Given the description of an element on the screen output the (x, y) to click on. 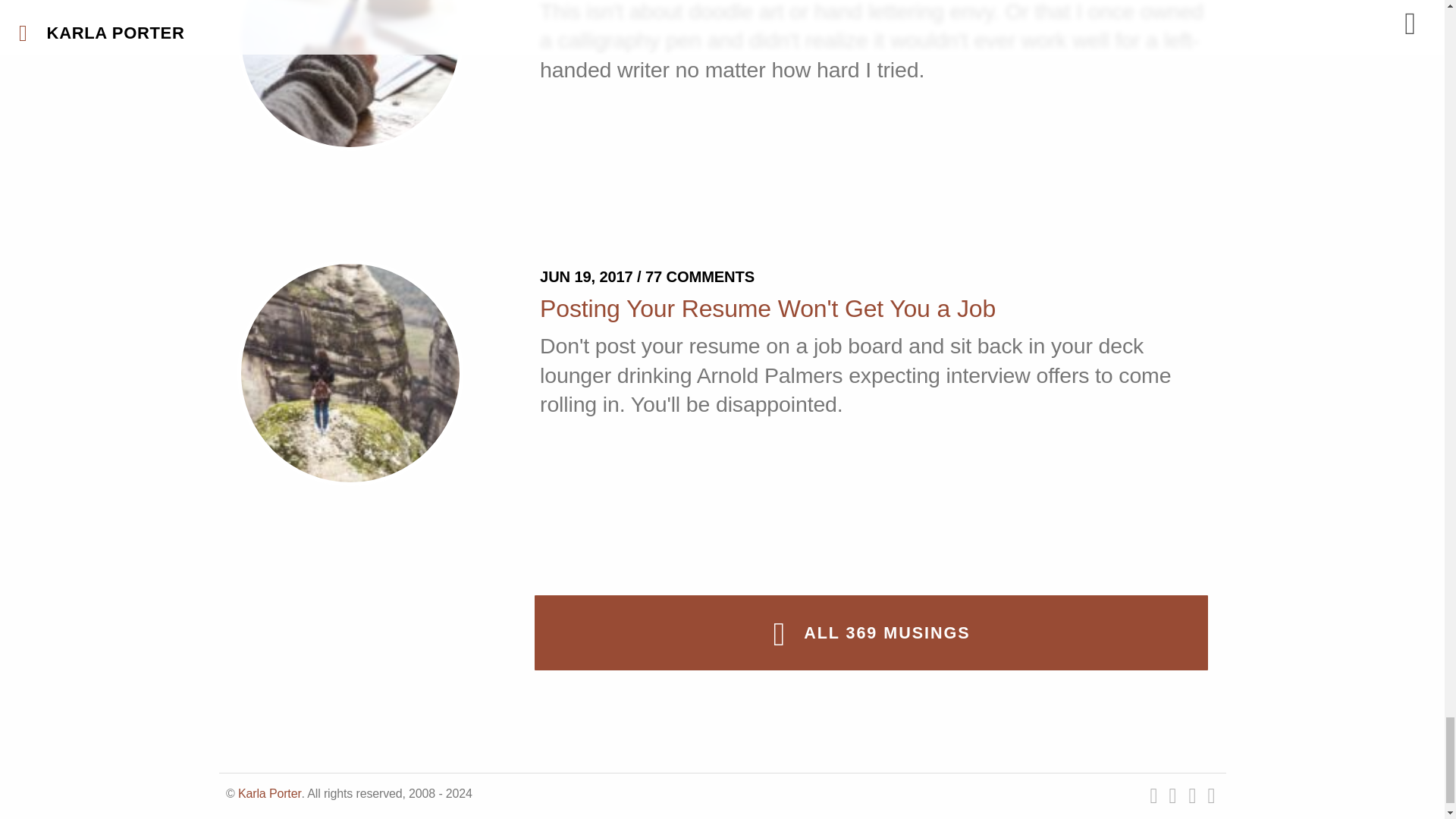
  ALL 369 MUSINGS (871, 632)
Karla Porter (269, 793)
